Given the description of an element on the screen output the (x, y) to click on. 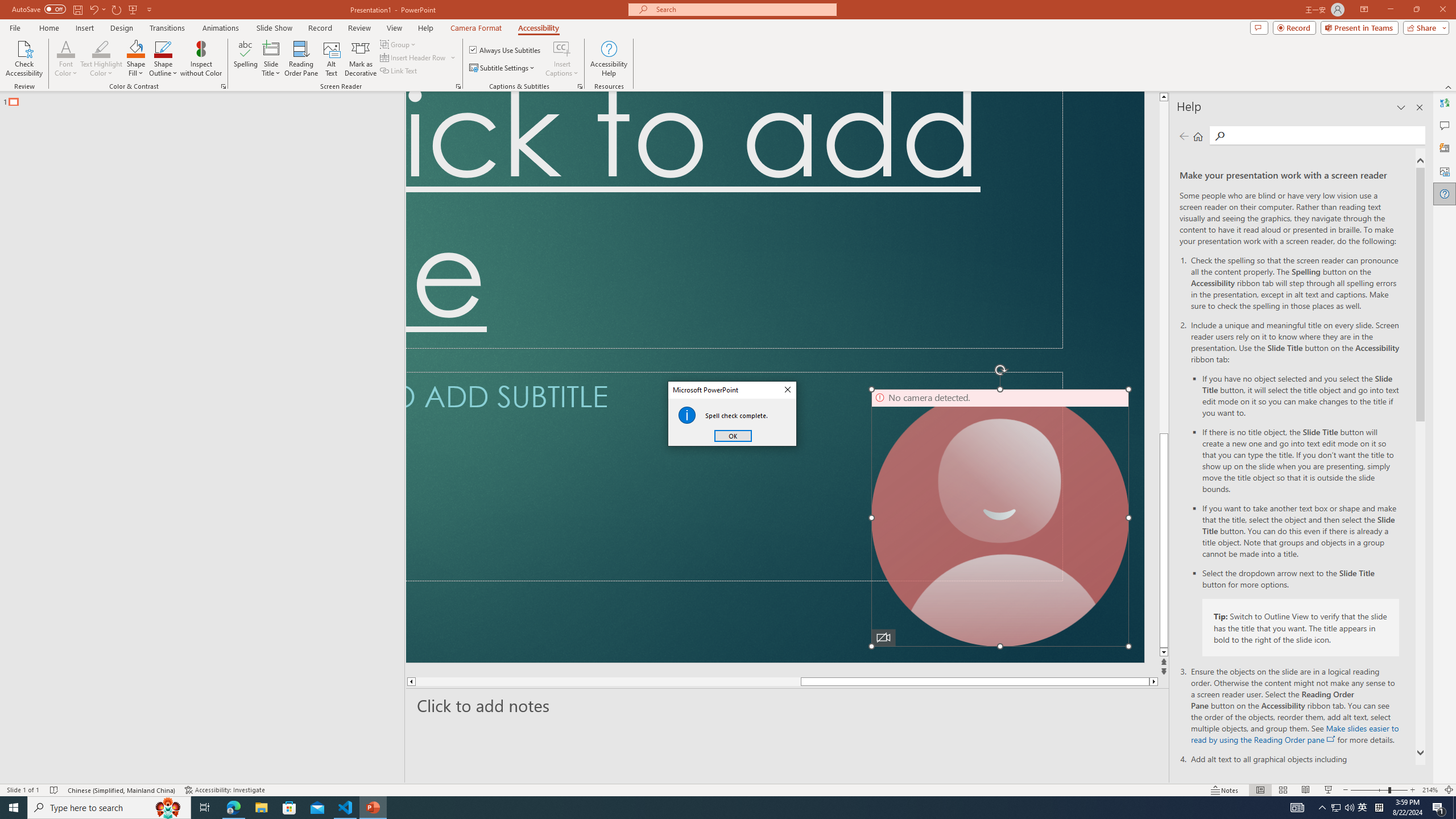
Subtitle Settings (502, 67)
Link Text (399, 69)
Class: Static (686, 415)
